Given the description of an element on the screen output the (x, y) to click on. 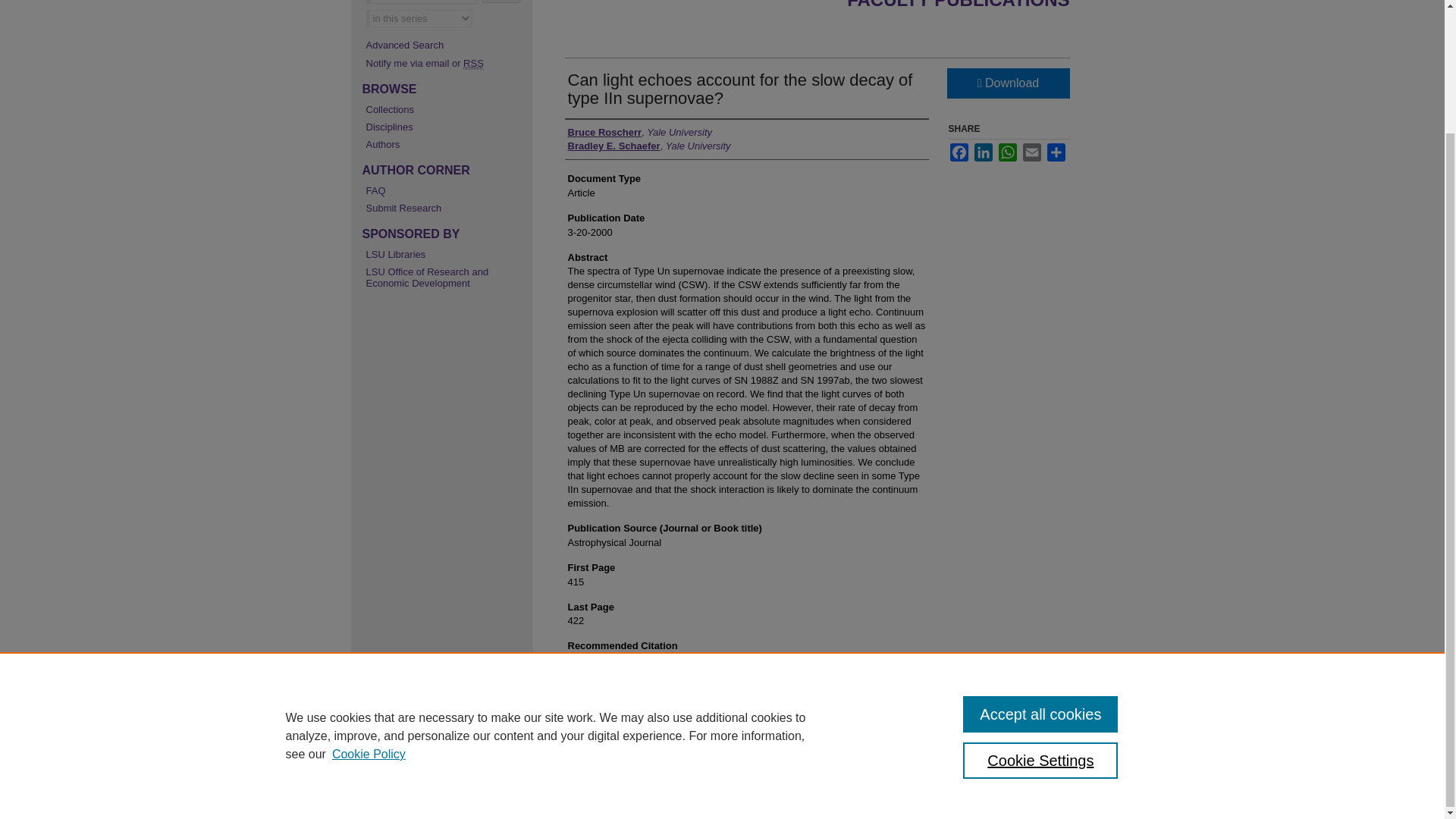
Search (500, 1)
Bradley E. Schaefer, Yale University (648, 146)
Bruce Roscherr, Yale University (639, 132)
Collections (444, 109)
Search (500, 1)
Email (1031, 152)
Email or RSS Notifications (444, 62)
WhatsApp (1006, 152)
Notify me via email or RSS (444, 62)
Browse by Disciplines (444, 126)
Download (1007, 82)
Advanced Search (404, 44)
Browse by Collections (444, 109)
Search (500, 1)
Disciplines (444, 126)
